Given the description of an element on the screen output the (x, y) to click on. 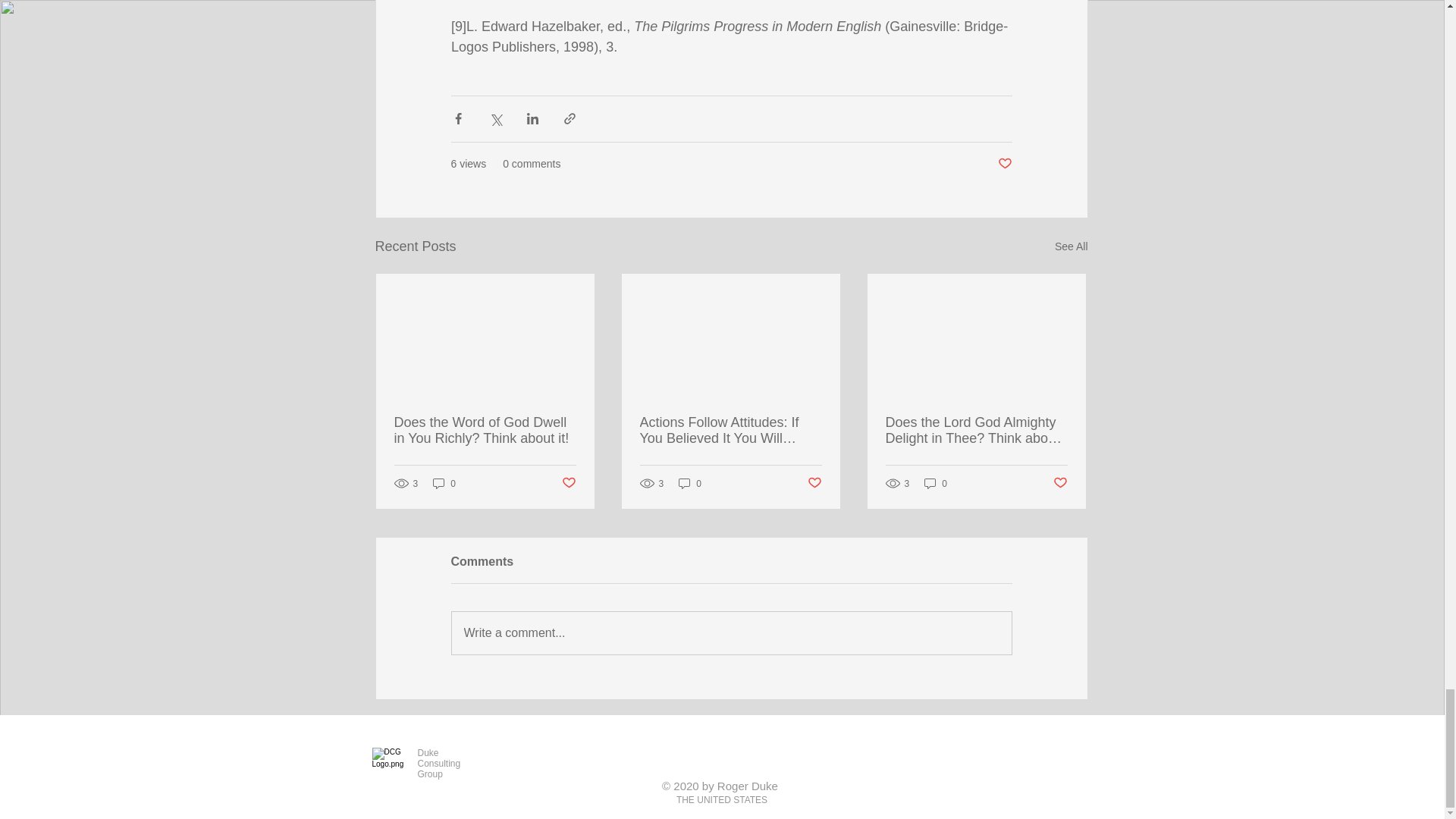
Does the Word of God Dwell in You Richly? Think about it! (485, 430)
Post not marked as liked (1004, 163)
See All (1070, 246)
Post not marked as liked (813, 483)
0 (936, 482)
0 (443, 482)
Write a comment... (731, 632)
0 (690, 482)
Does the Lord God Almighty Delight in Thee? Think about it! (976, 430)
Post not marked as liked (567, 483)
Post not marked as liked (1059, 483)
